Given the description of an element on the screen output the (x, y) to click on. 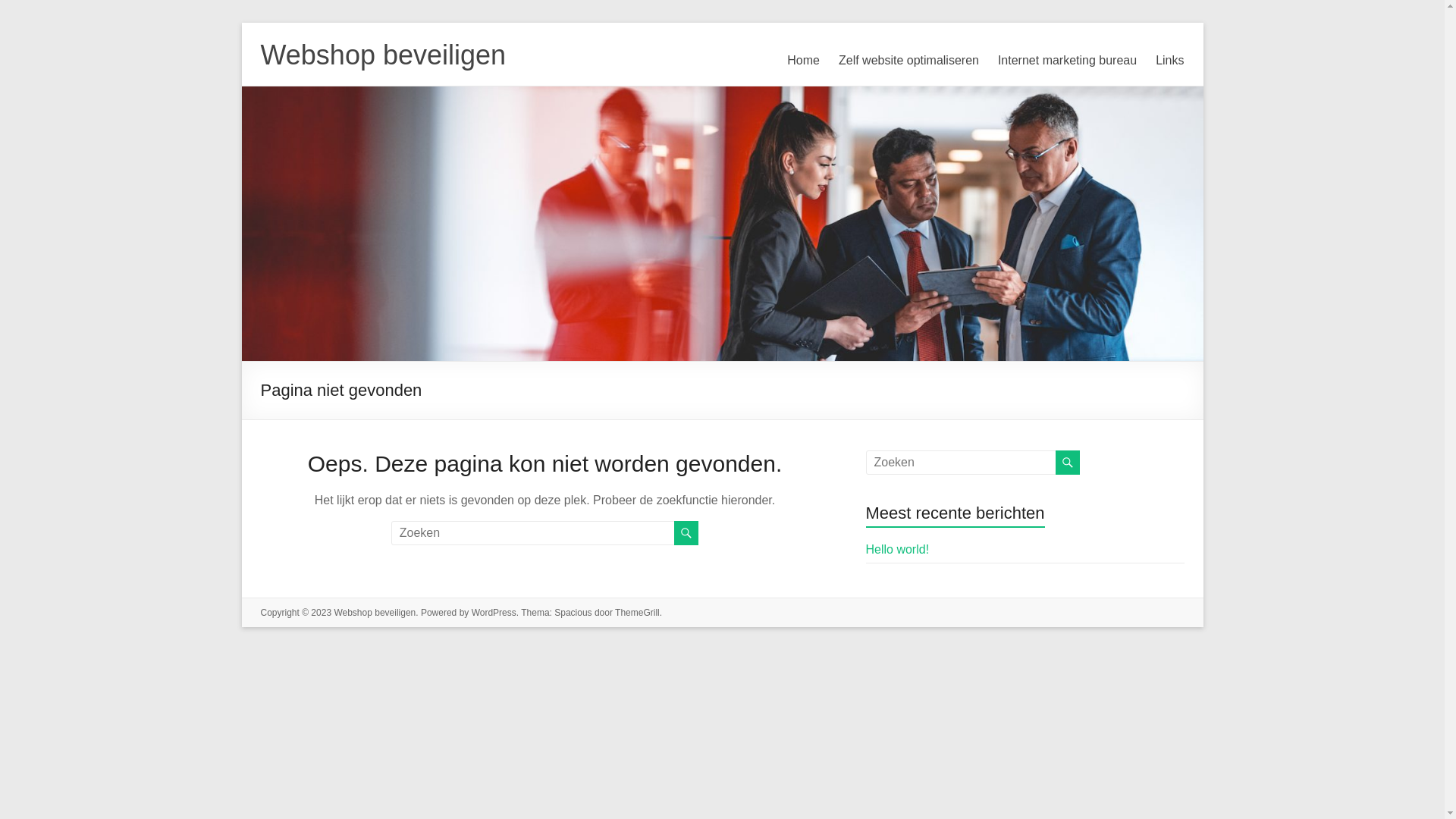
Webshop beveiligen Element type: text (383, 54)
WordPress Element type: text (493, 612)
Zelf website optimaliseren Element type: text (908, 60)
Webshop beveiligen Element type: text (374, 612)
Home Element type: text (803, 60)
Skip to content Element type: text (241, 21)
Hello world! Element type: text (897, 548)
Links Element type: text (1169, 60)
Internet marketing bureau Element type: text (1066, 60)
ThemeGrill Element type: text (637, 612)
